Given the description of an element on the screen output the (x, y) to click on. 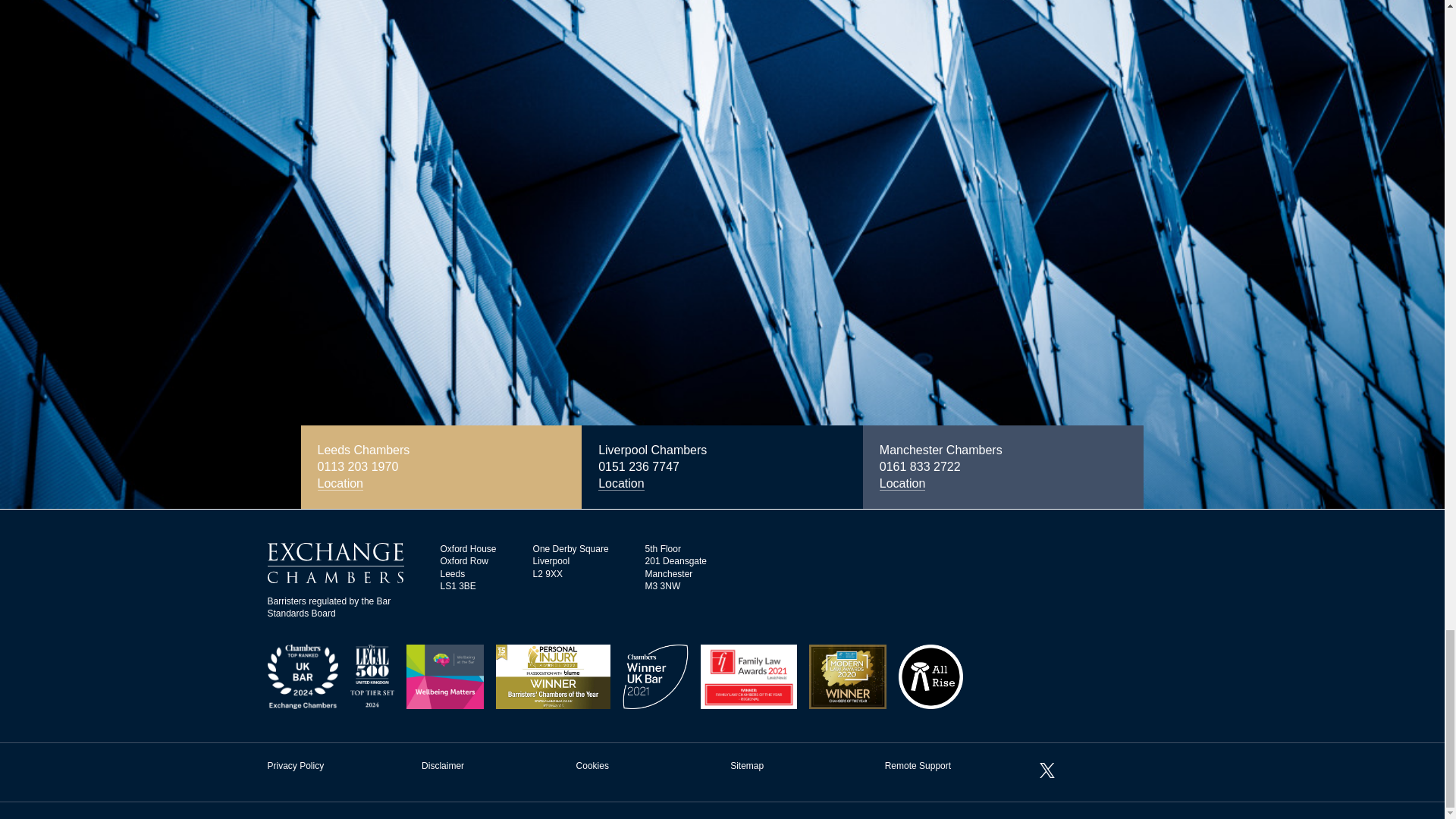
Cookies (592, 765)
Disclaimer (443, 765)
Sitemap (746, 765)
Privacy Policy (294, 765)
Remote Support (917, 765)
